Given the description of an element on the screen output the (x, y) to click on. 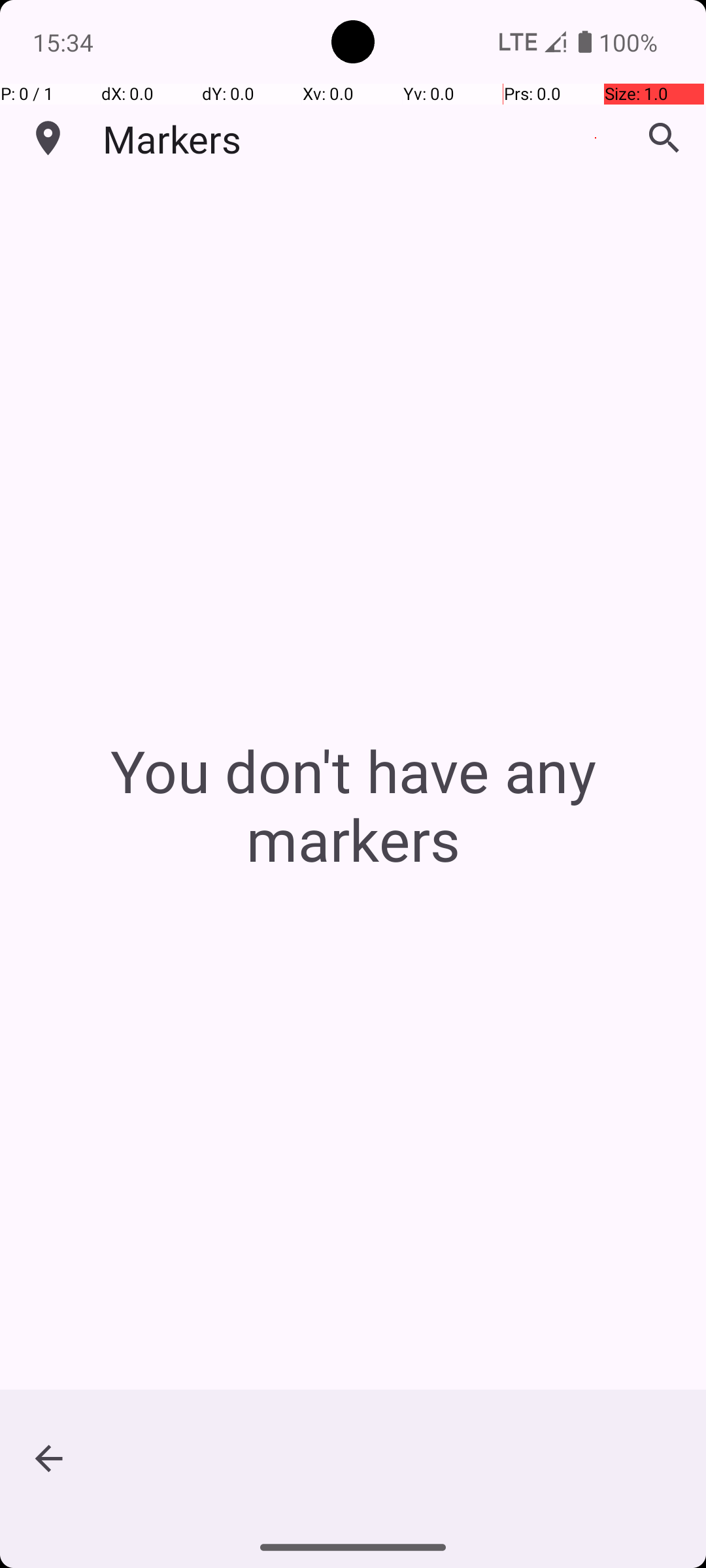
You don't have any markers Element type: android.widget.TextView (353, 805)
